Given the description of an element on the screen output the (x, y) to click on. 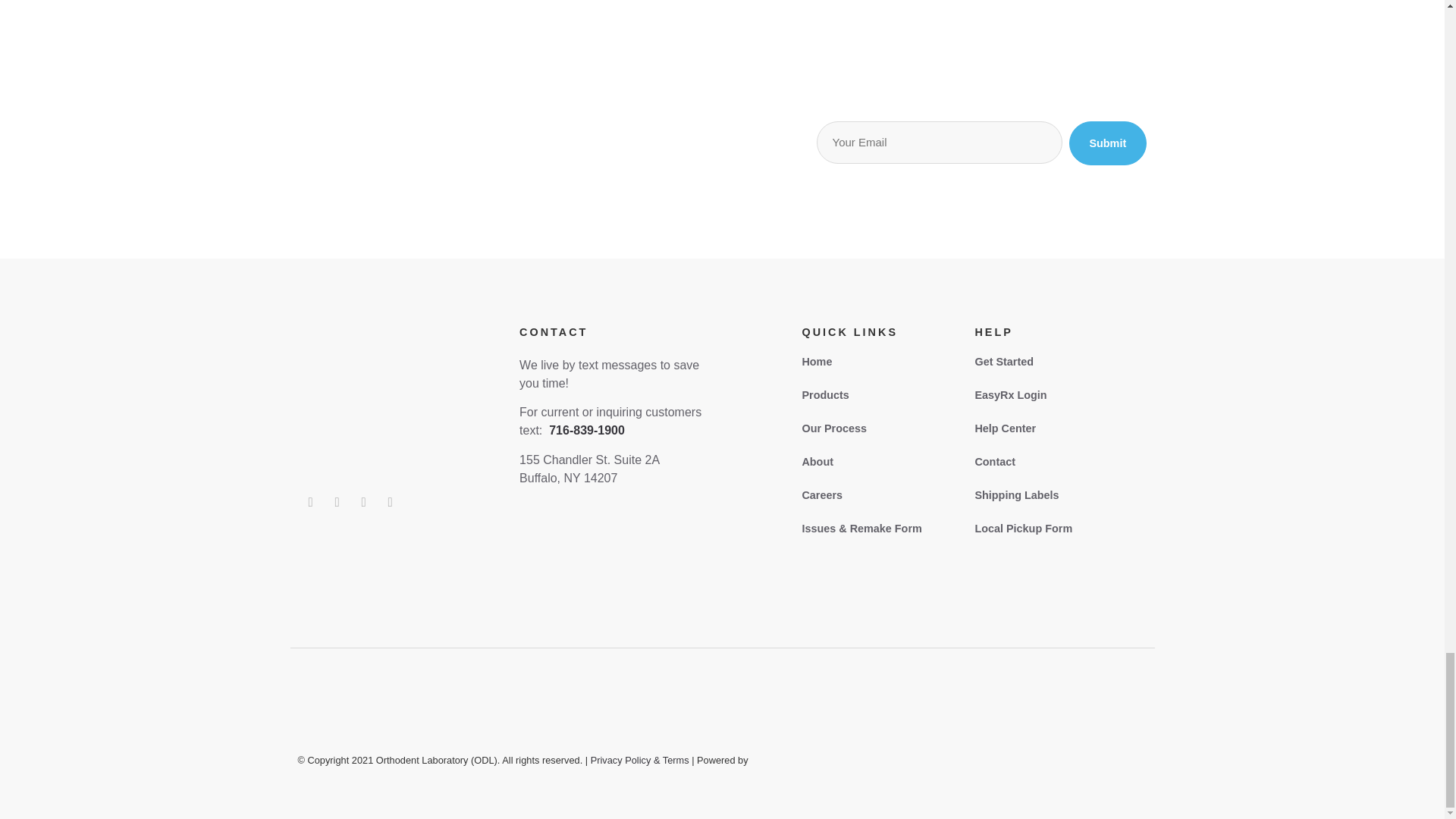
Submit (1107, 143)
